Given the description of an element on the screen output the (x, y) to click on. 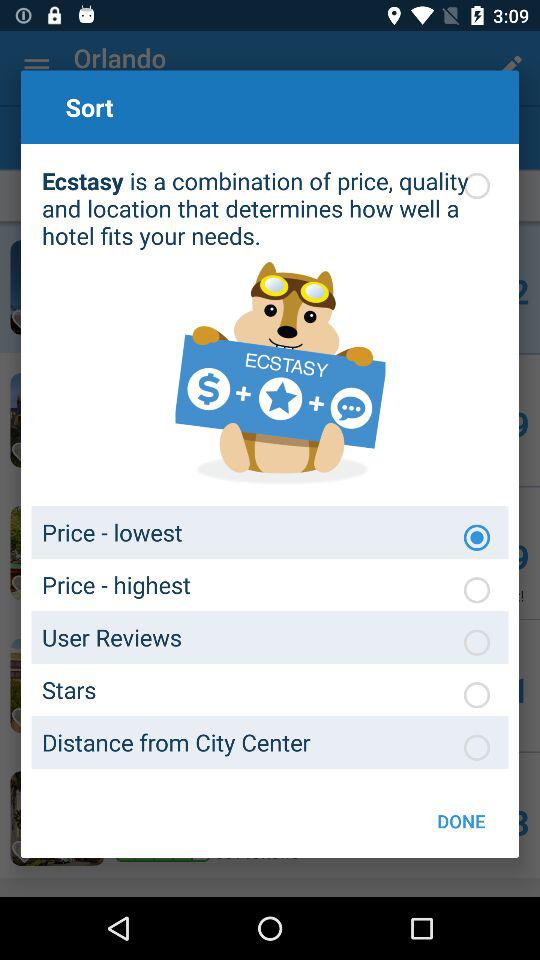
select another assortment option (477, 747)
